Given the description of an element on the screen output the (x, y) to click on. 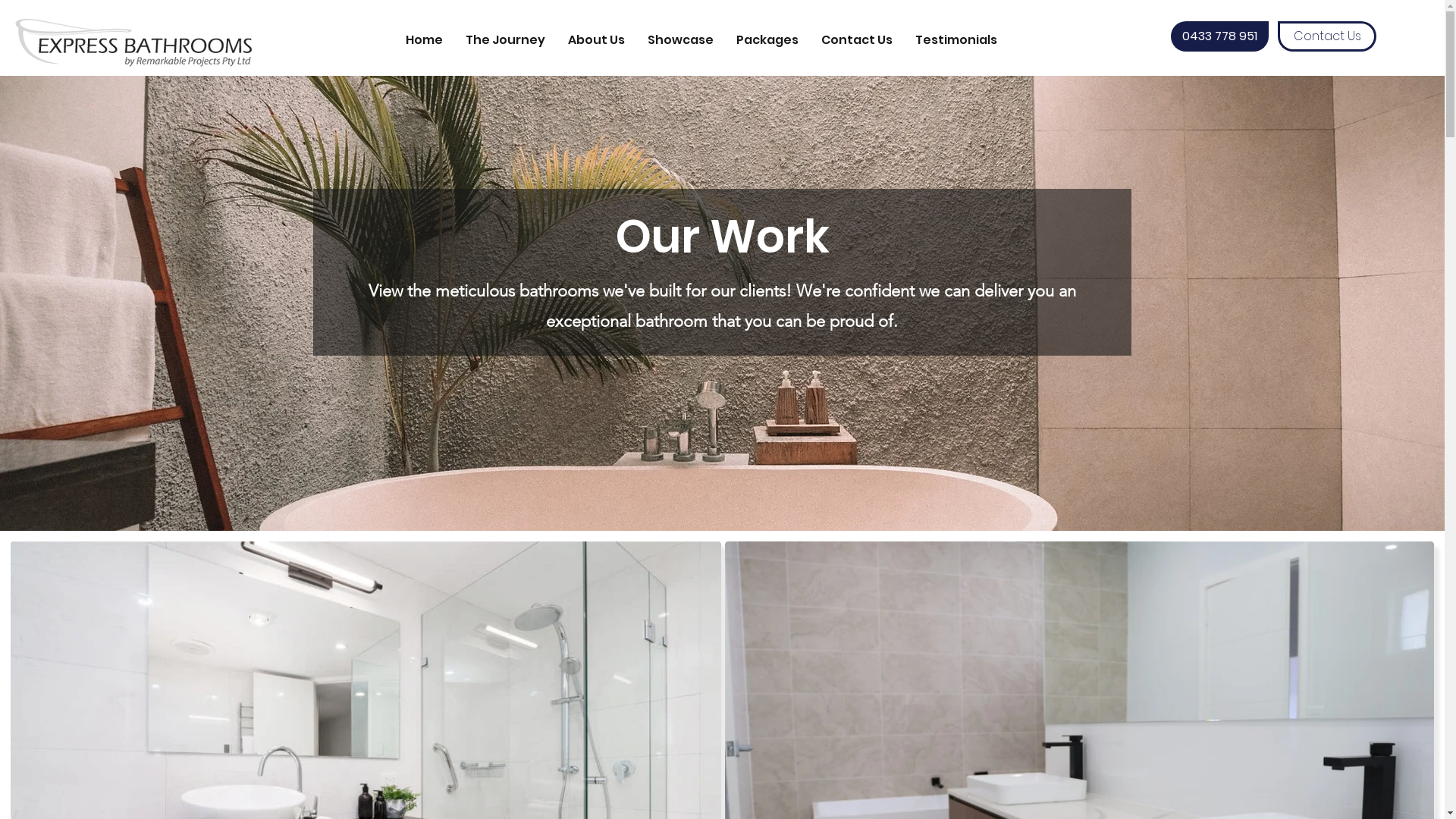
Testimonials Element type: text (955, 39)
0433 778 951 Element type: text (1219, 36)
Packages Element type: text (766, 39)
Showcase Element type: text (680, 39)
Home Element type: text (424, 39)
Contact Us Element type: text (1326, 36)
About Us Element type: text (596, 39)
Contact Us Element type: text (856, 39)
The Journey Element type: text (505, 39)
